Given the description of an element on the screen output the (x, y) to click on. 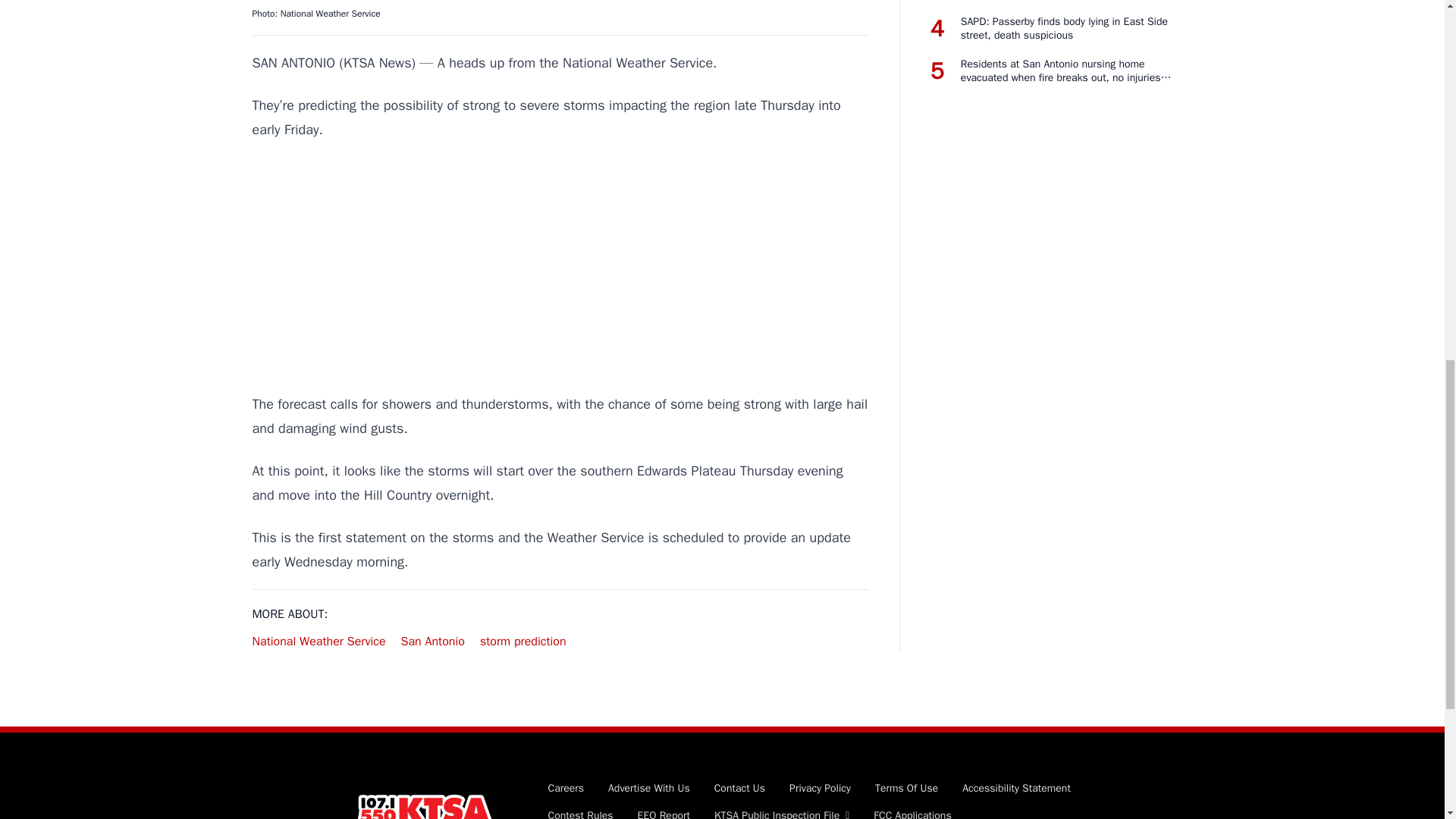
3rd party ad content (560, 266)
